Given the description of an element on the screen output the (x, y) to click on. 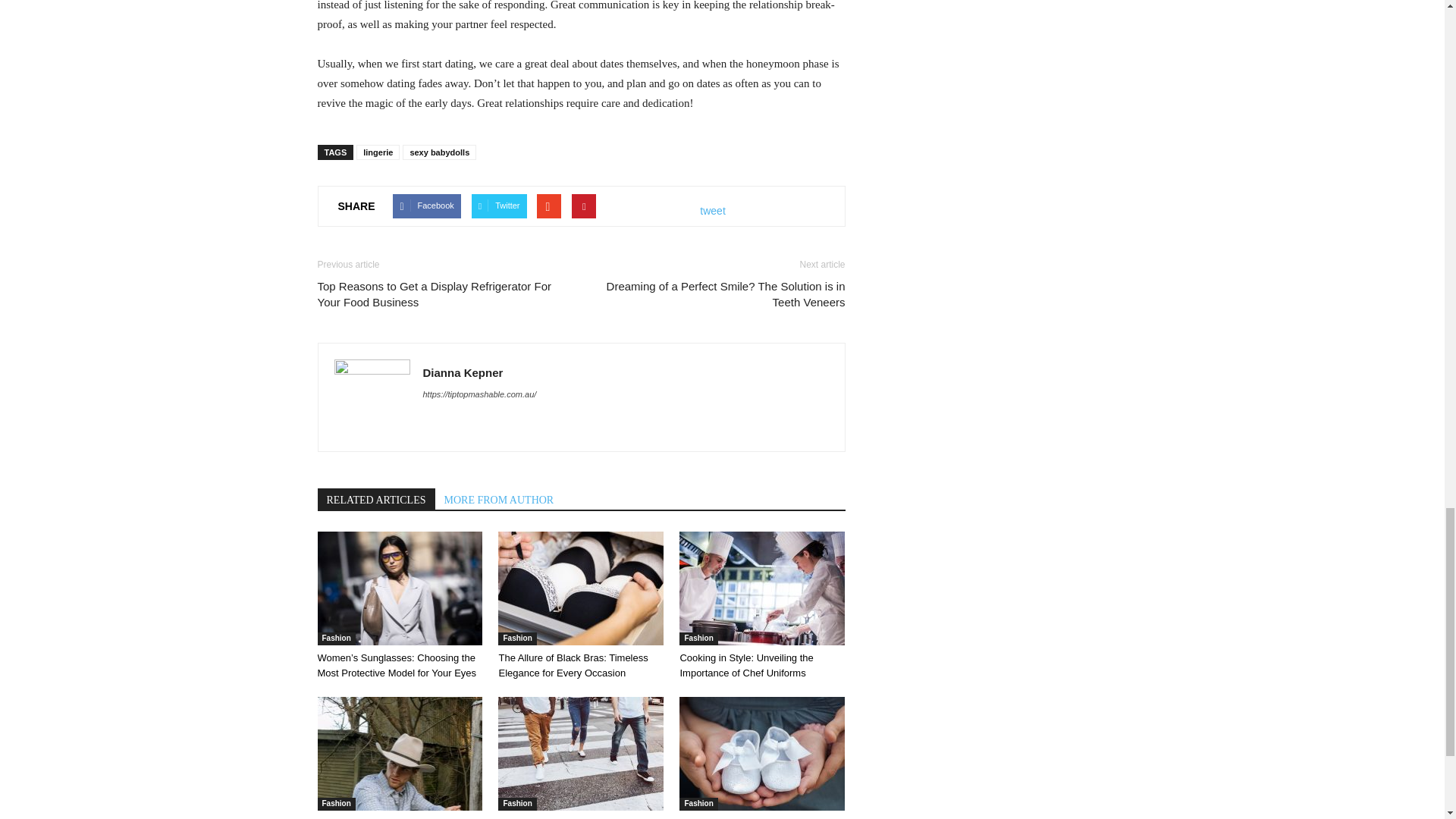
Cooking in Style: Unveiling the Importance of Chef Uniforms (745, 664)
Cooking in Style: Unveiling the Importance of Chef Uniforms (761, 588)
